Given the description of an element on the screen output the (x, y) to click on. 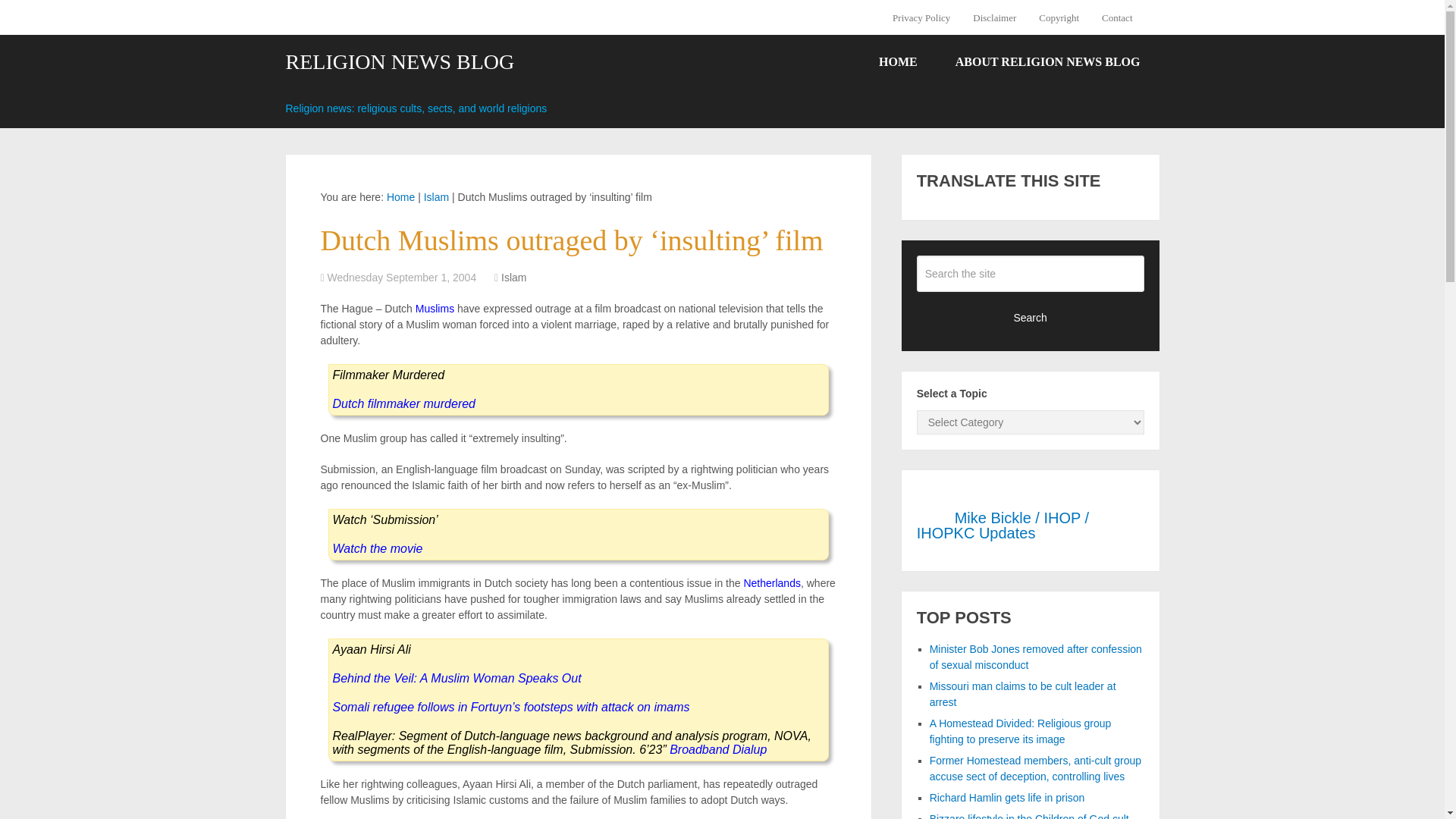
Broadband (699, 748)
Netherlands (771, 582)
RELIGION NEWS BLOG (399, 61)
Contact (1116, 17)
HOME (898, 62)
Islam (435, 196)
Dutch filmmaker murdered (403, 403)
Bizzare lifestyle in the Children of God cult (1029, 816)
Muslims (434, 308)
